Given the description of an element on the screen output the (x, y) to click on. 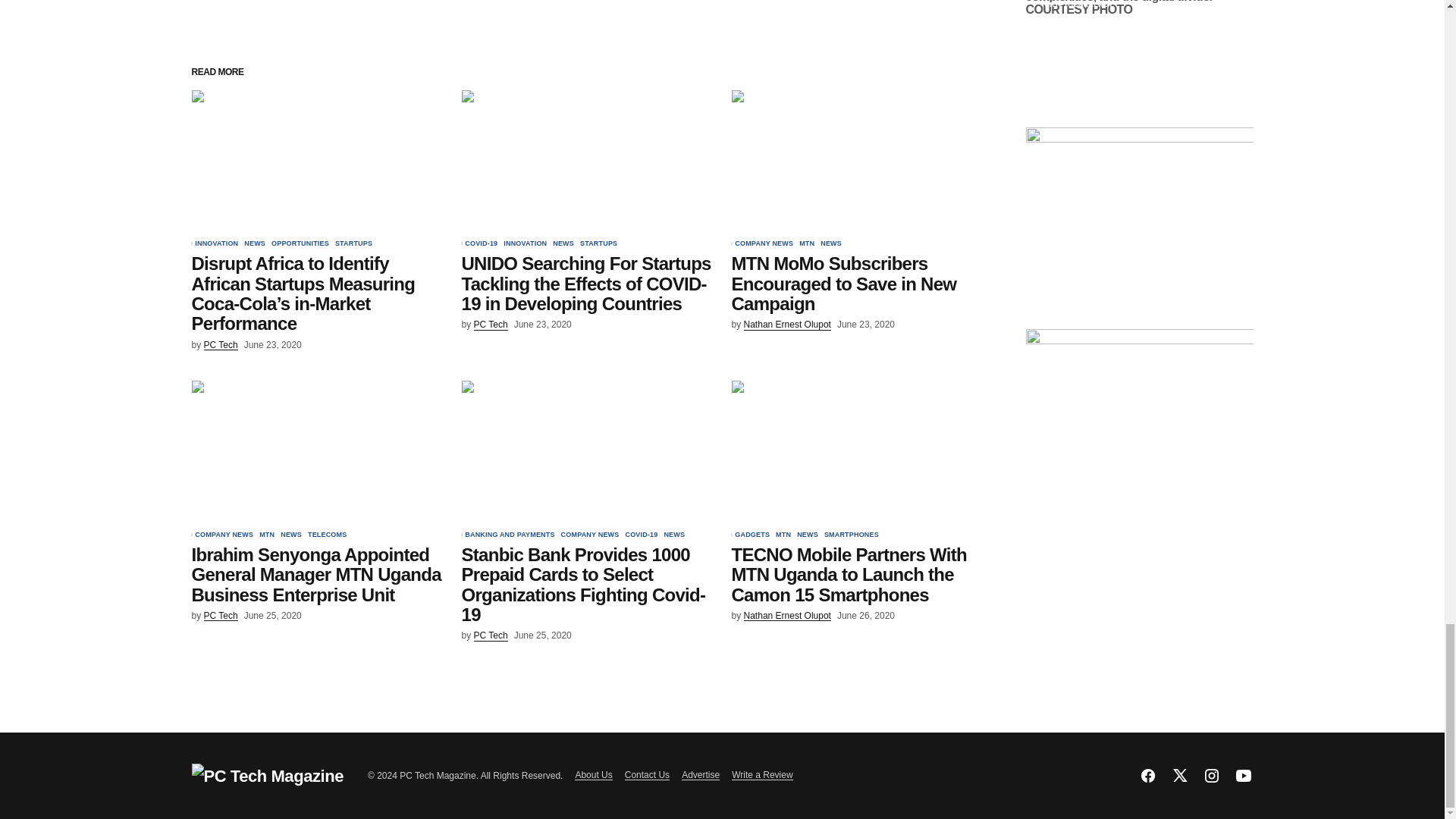
MTN MoMo Subscribers Encouraged to Save in New Campaign (856, 160)
